Given the description of an element on the screen output the (x, y) to click on. 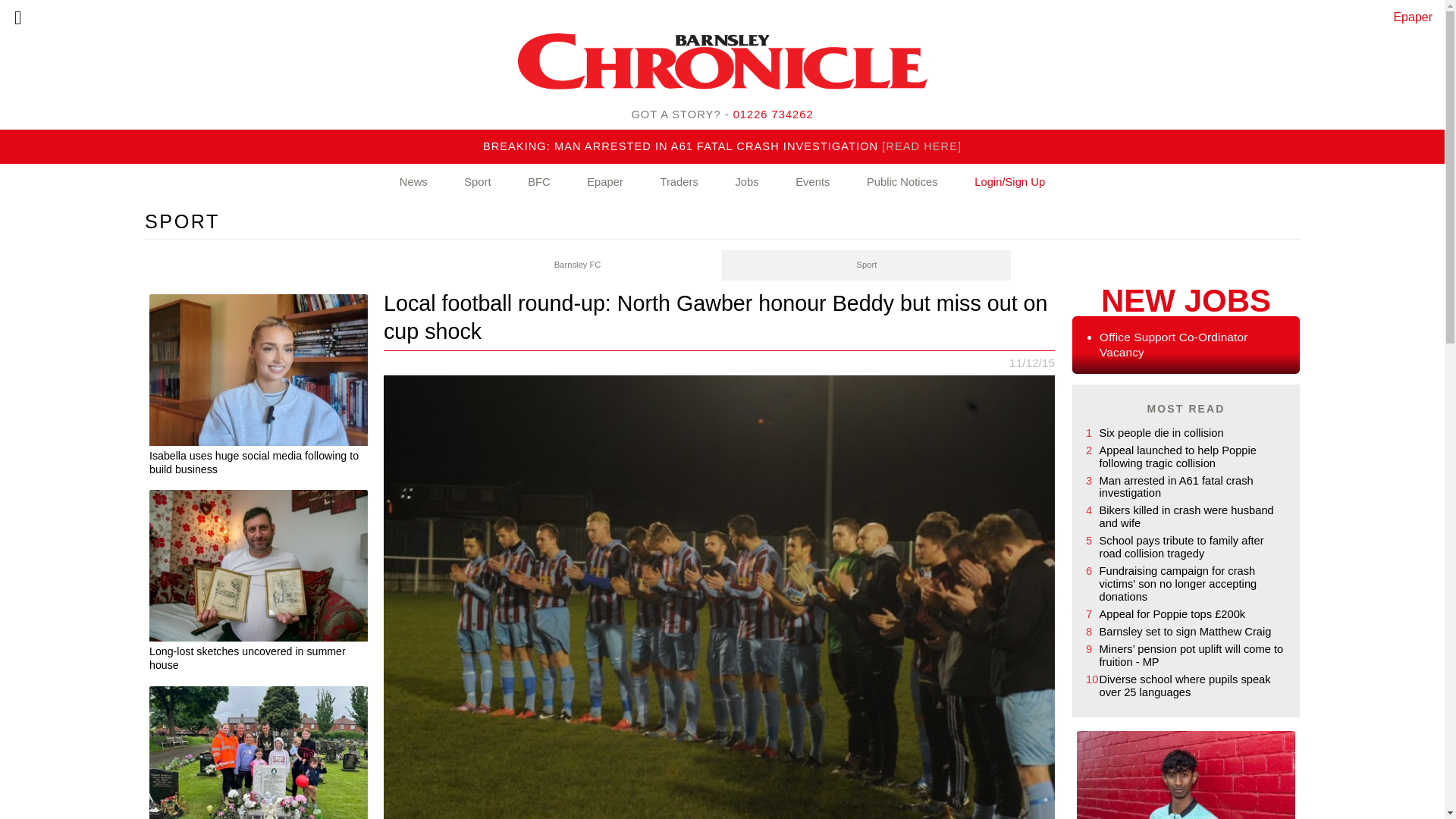
Barnsley FC (577, 265)
Epaper (604, 182)
Public Notices (902, 182)
Events (812, 182)
BFC (539, 182)
01226 734262 (773, 114)
Epaper (1412, 16)
Sport (477, 182)
Traders (678, 182)
SPORT (181, 220)
Isabella uses huge social media following to build business (258, 464)
News (413, 182)
Jobs (745, 182)
Sport (866, 265)
